Given the description of an element on the screen output the (x, y) to click on. 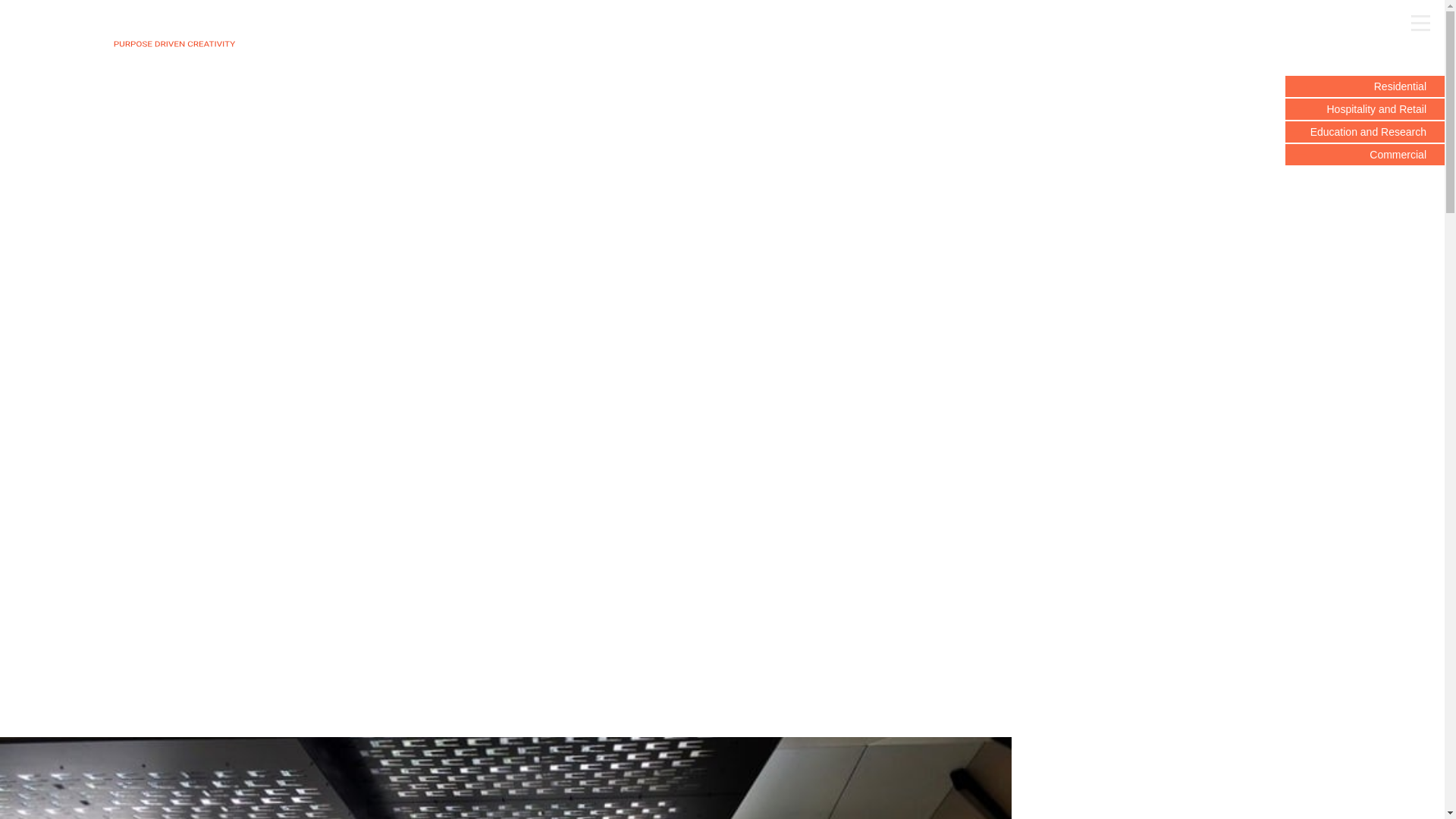
Education and Research Element type: text (1364, 131)
Residential Element type: text (1364, 86)
Hospitality and Retail Element type: text (1364, 108)
Commercial Element type: text (1364, 154)
